Given the description of an element on the screen output the (x, y) to click on. 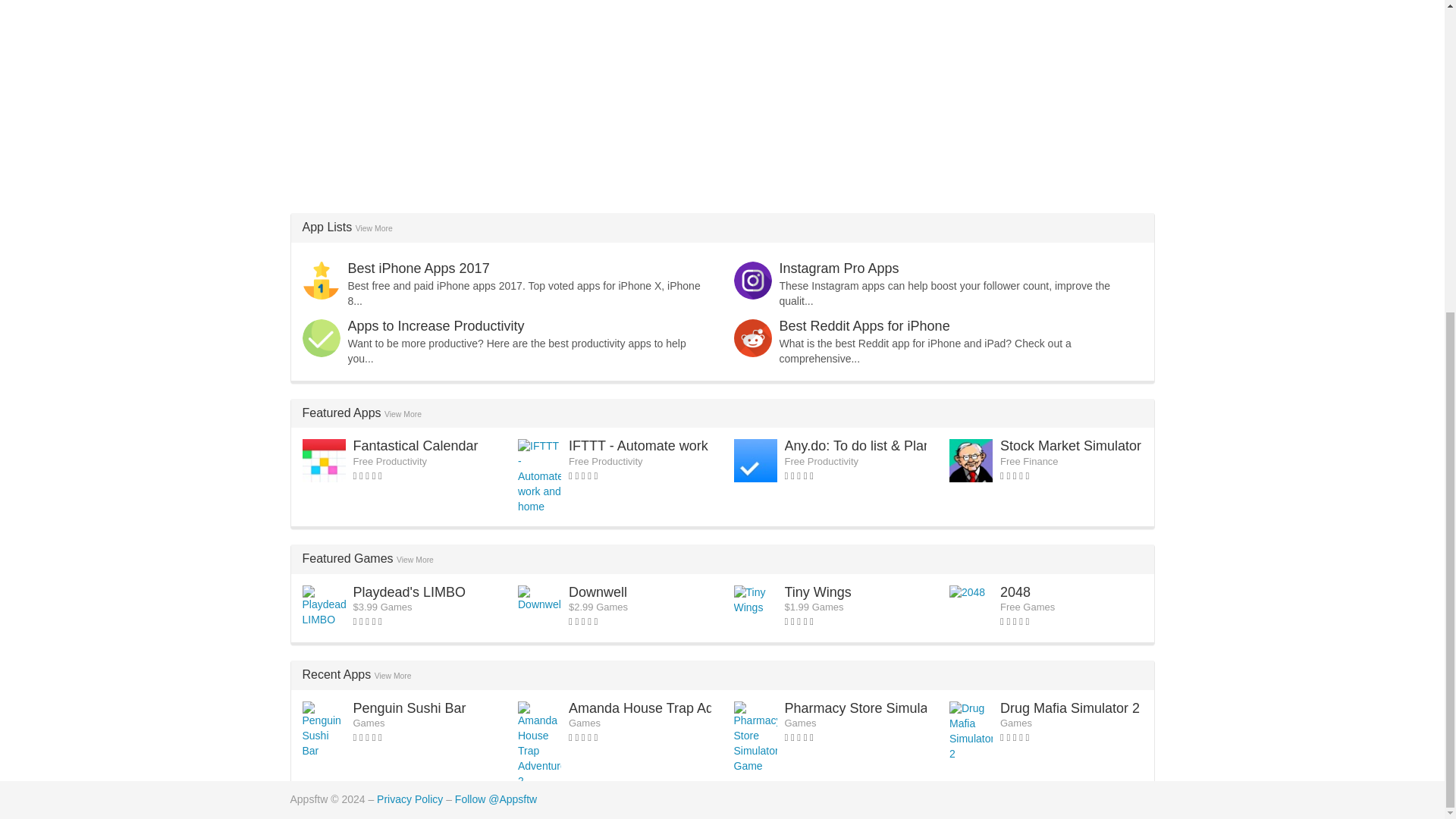
Apps to Increase Productivity (435, 325)
Instagram Pro Apps (838, 268)
Best iPhone Apps 2017 (418, 268)
Best Reddit Apps for iPhone (864, 325)
